Given the description of an element on the screen output the (x, y) to click on. 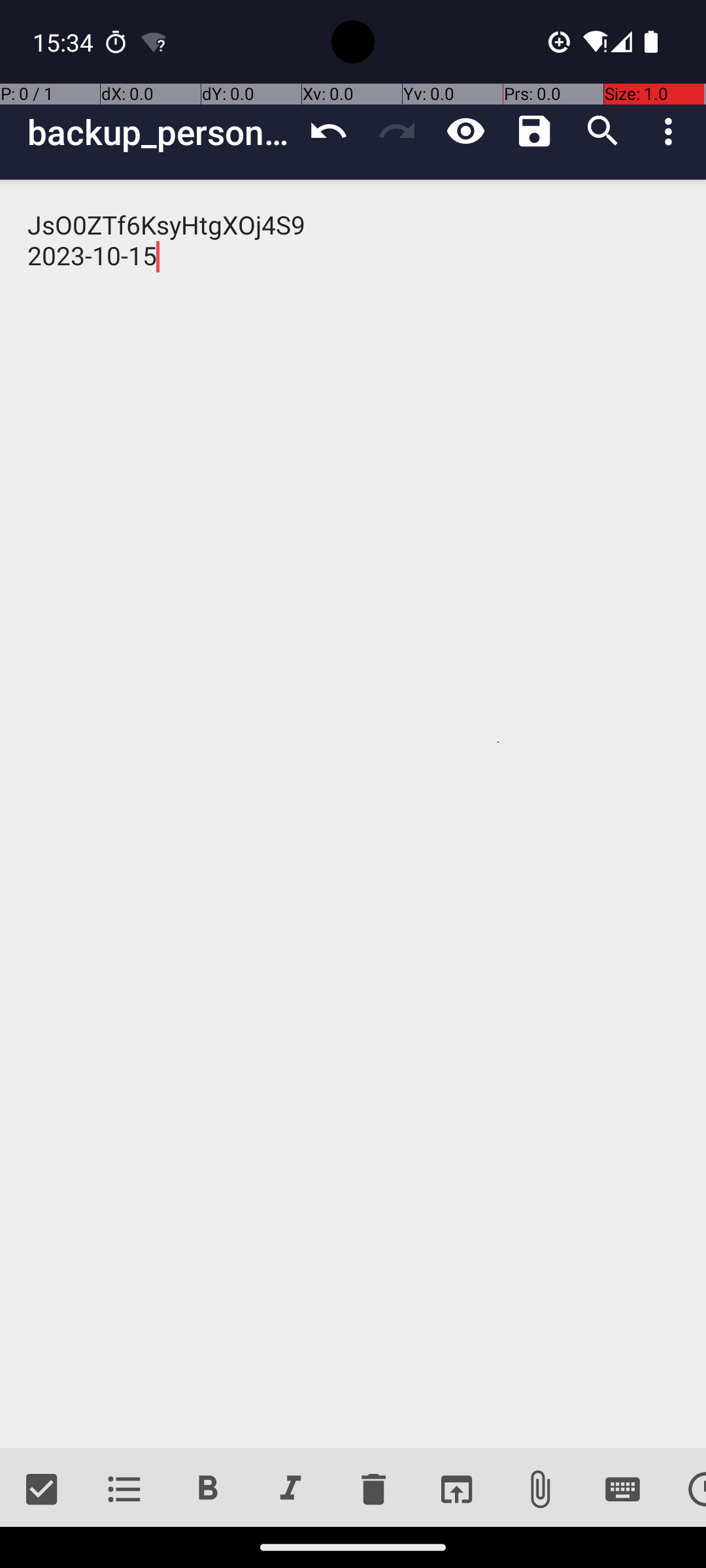
backup_personal_goals_2024 Element type: android.widget.TextView (160, 131)
JsO0ZTf6KsyHtgXOj4S9
2023-10-15 Element type: android.widget.EditText (353, 813)
